Given the description of an element on the screen output the (x, y) to click on. 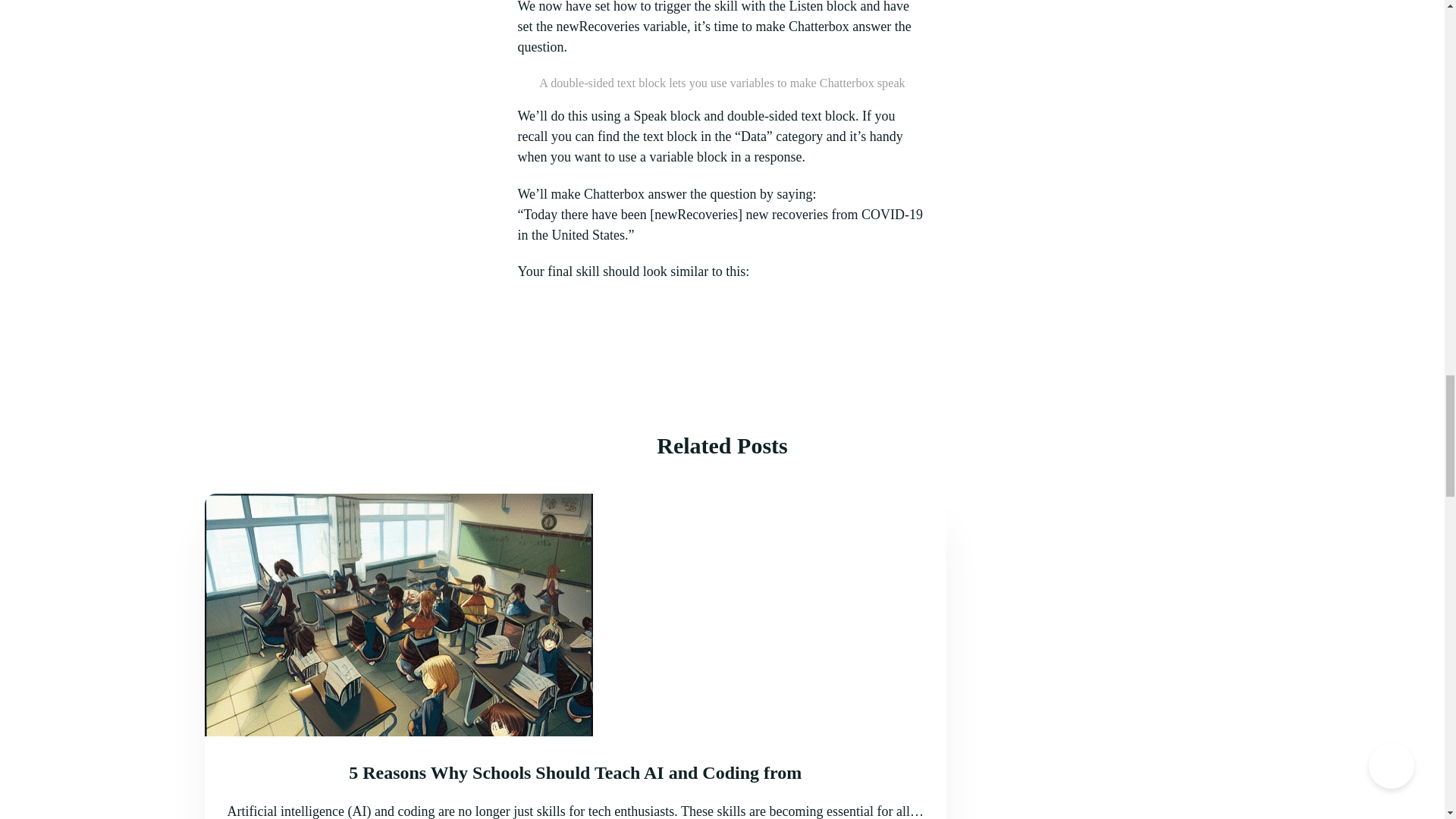
5 Reasons Why Schools Should Teach AI and Coding from (575, 772)
